Given the description of an element on the screen output the (x, y) to click on. 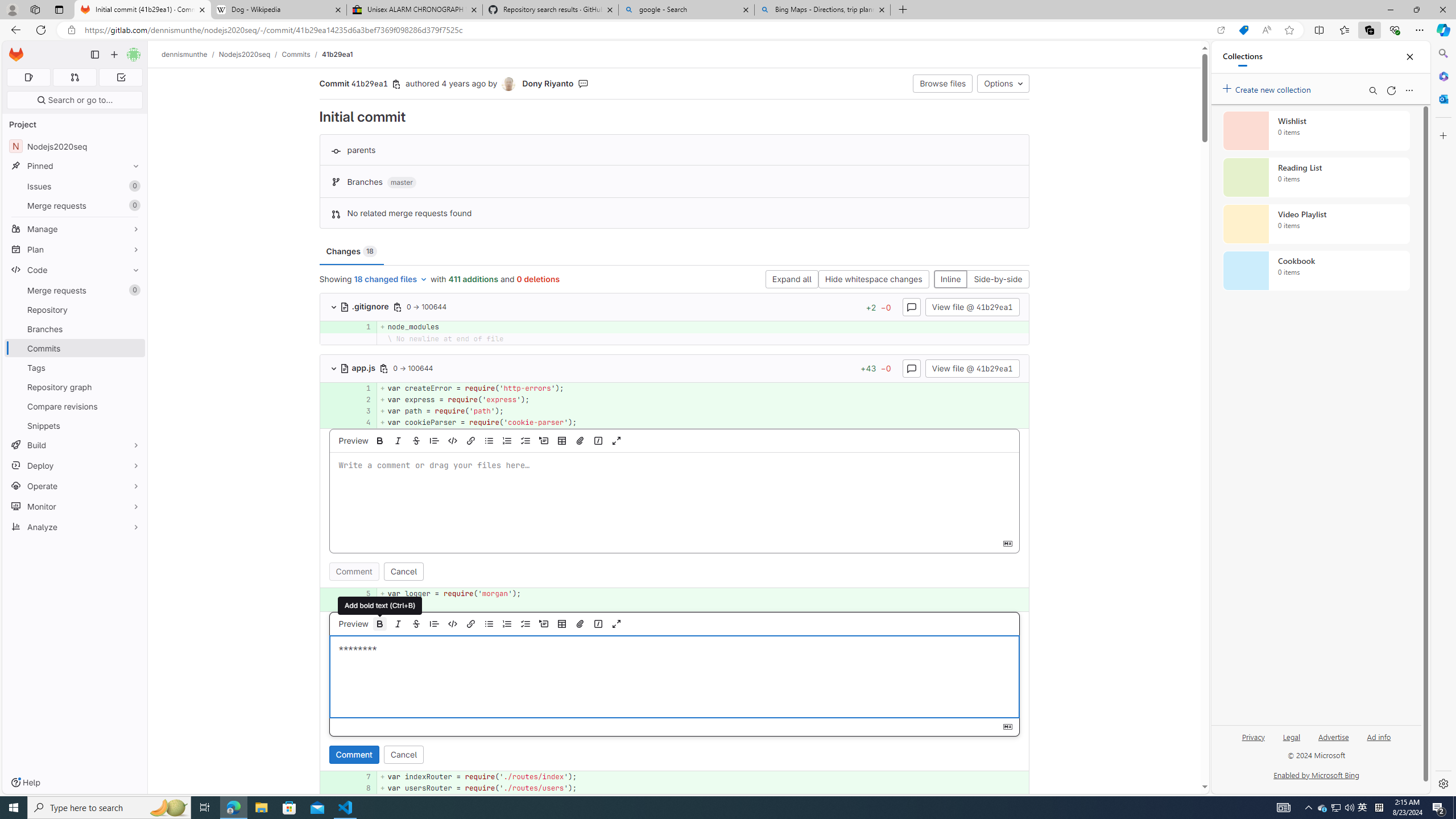
Add a table (561, 623)
Skip to main content (13, 49)
Dog - Wikipedia (277, 9)
Add a checklist (525, 623)
Add a link (Ctrl+K) (470, 623)
Class: notes_holder js-temp-notes-holder (674, 690)
Add this page to favorites (Ctrl+D) (1289, 29)
Help (25, 782)
2 (362, 399)
Cookbook collection, 0 items (1316, 270)
Minimize (1390, 9)
Collections (1369, 29)
